Given the description of an element on the screen output the (x, y) to click on. 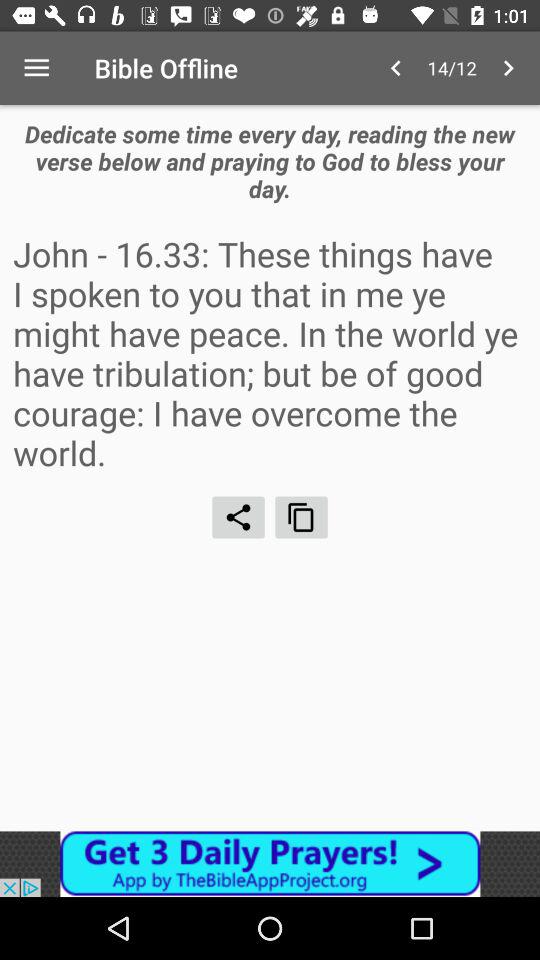
share text (238, 517)
